Given the description of an element on the screen output the (x, y) to click on. 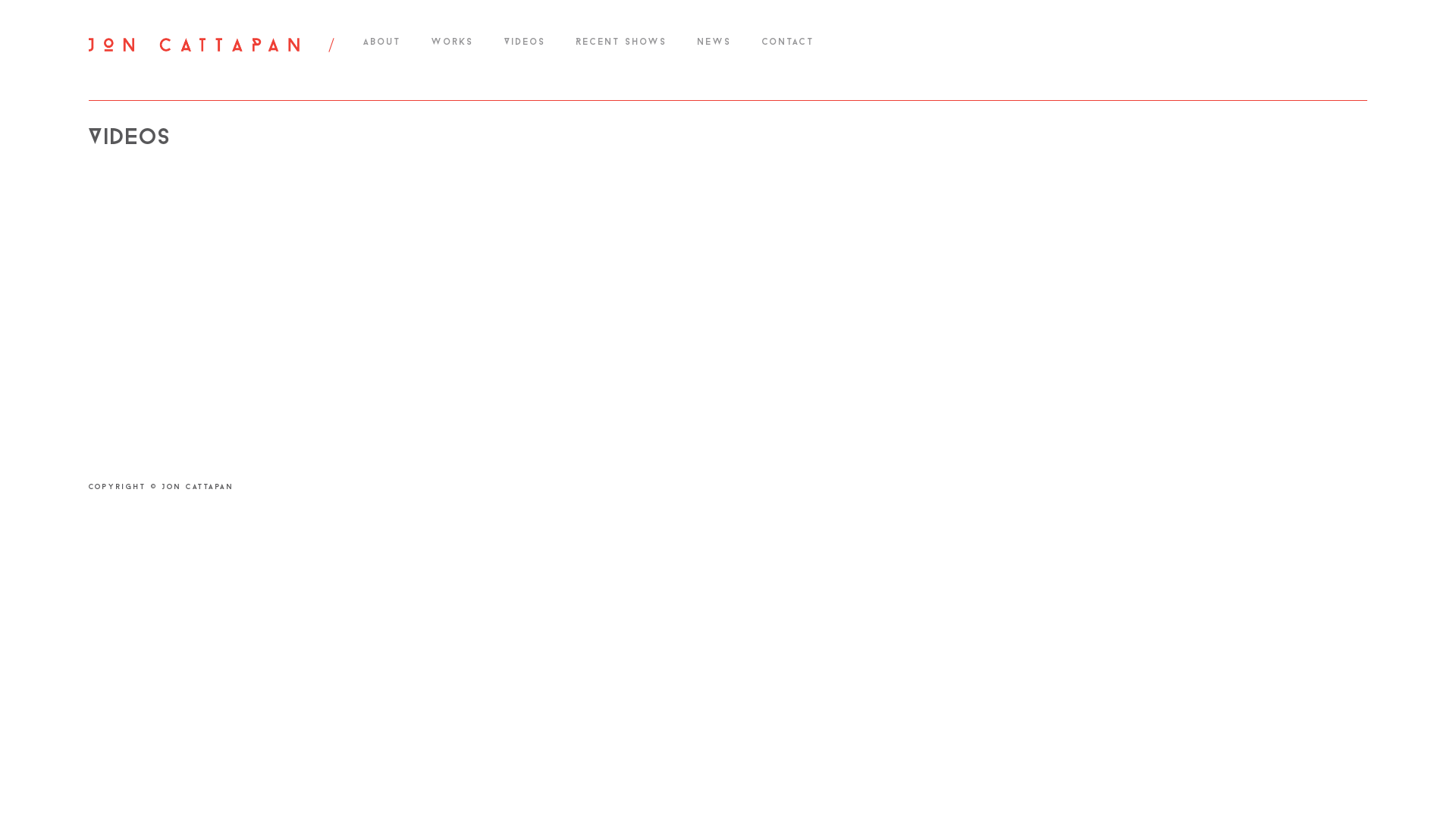
Contact Element type: text (787, 42)
News Element type: text (714, 42)
About Element type: text (381, 42)
Works Element type: text (451, 42)
Videos Element type: text (524, 42)
Recent Shows Element type: text (621, 42)
